Given the description of an element on the screen output the (x, y) to click on. 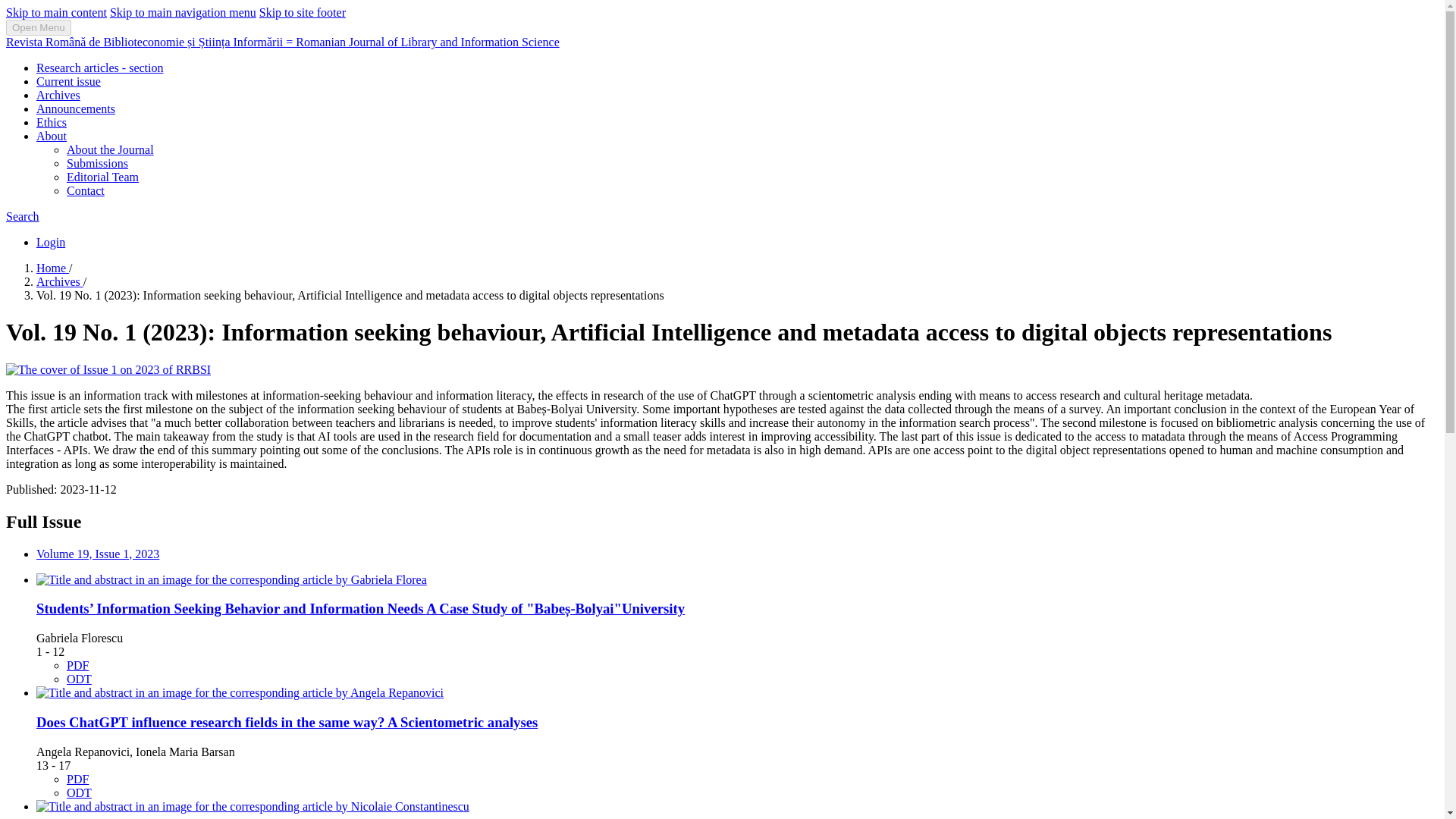
Current issue (68, 81)
Research articles - section (99, 67)
Search (22, 215)
Editorial Team (102, 176)
About (51, 135)
Announcements (75, 108)
Submissions (97, 163)
PDF (77, 665)
Skip to site footer (302, 11)
ODT (78, 678)
